Given the description of an element on the screen output the (x, y) to click on. 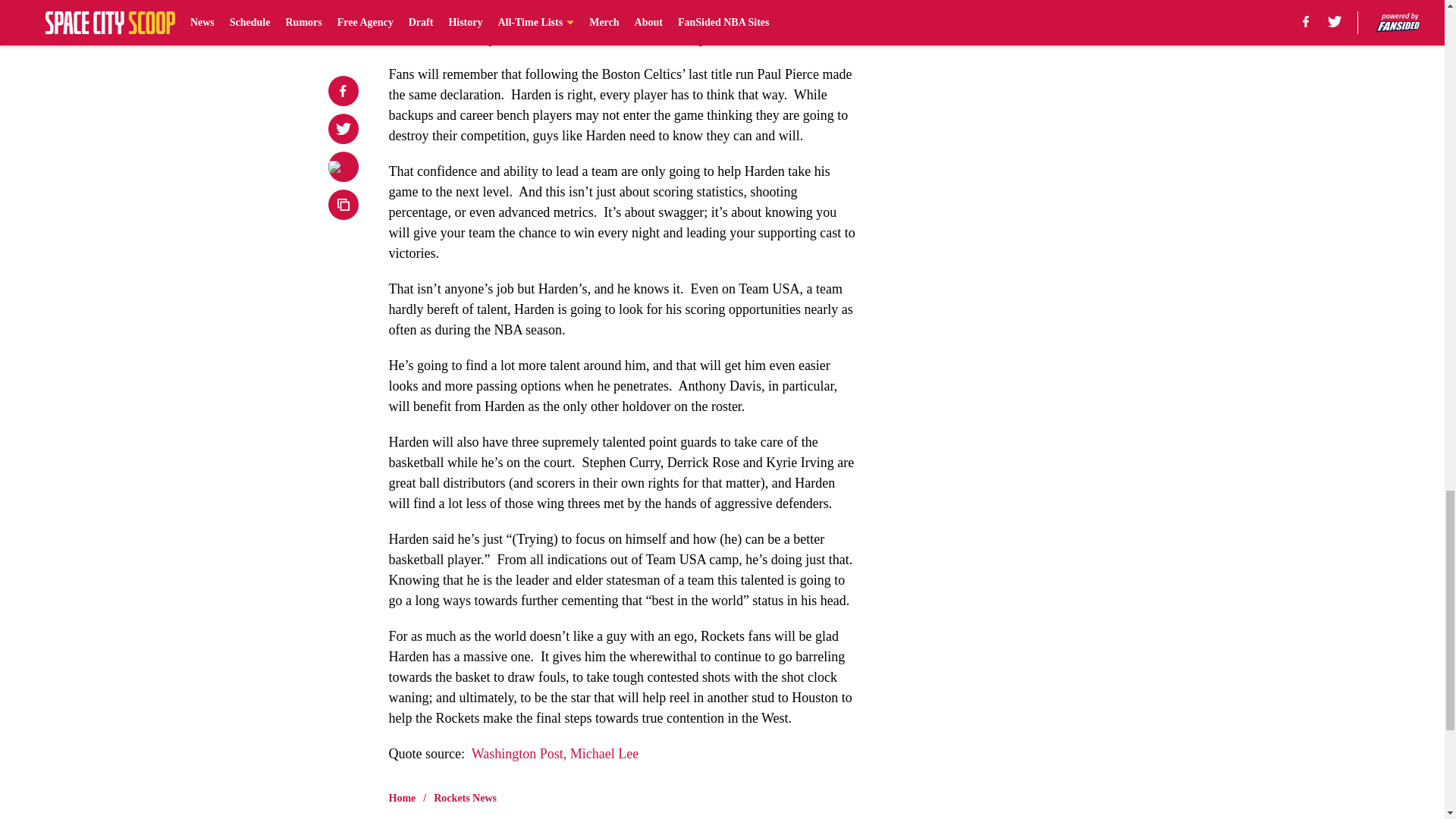
Rockets News (464, 798)
Washington Post, Michael Lee (555, 753)
Home (401, 798)
